Given the description of an element on the screen output the (x, y) to click on. 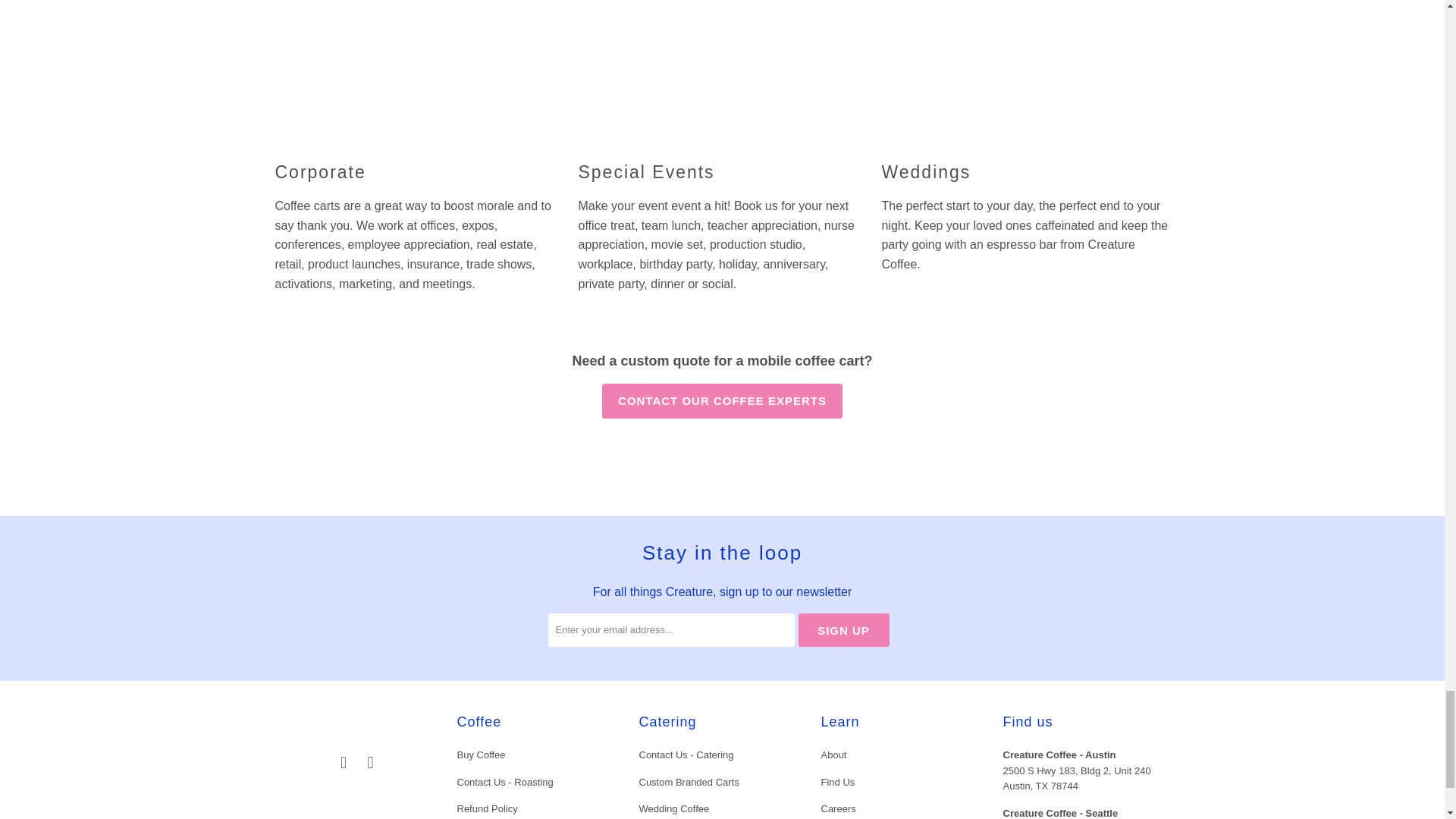
Creature Coffee Co on Instagram (370, 762)
Creature Coffee Co on Facebook (344, 762)
Sign Up (842, 630)
